Given the description of an element on the screen output the (x, y) to click on. 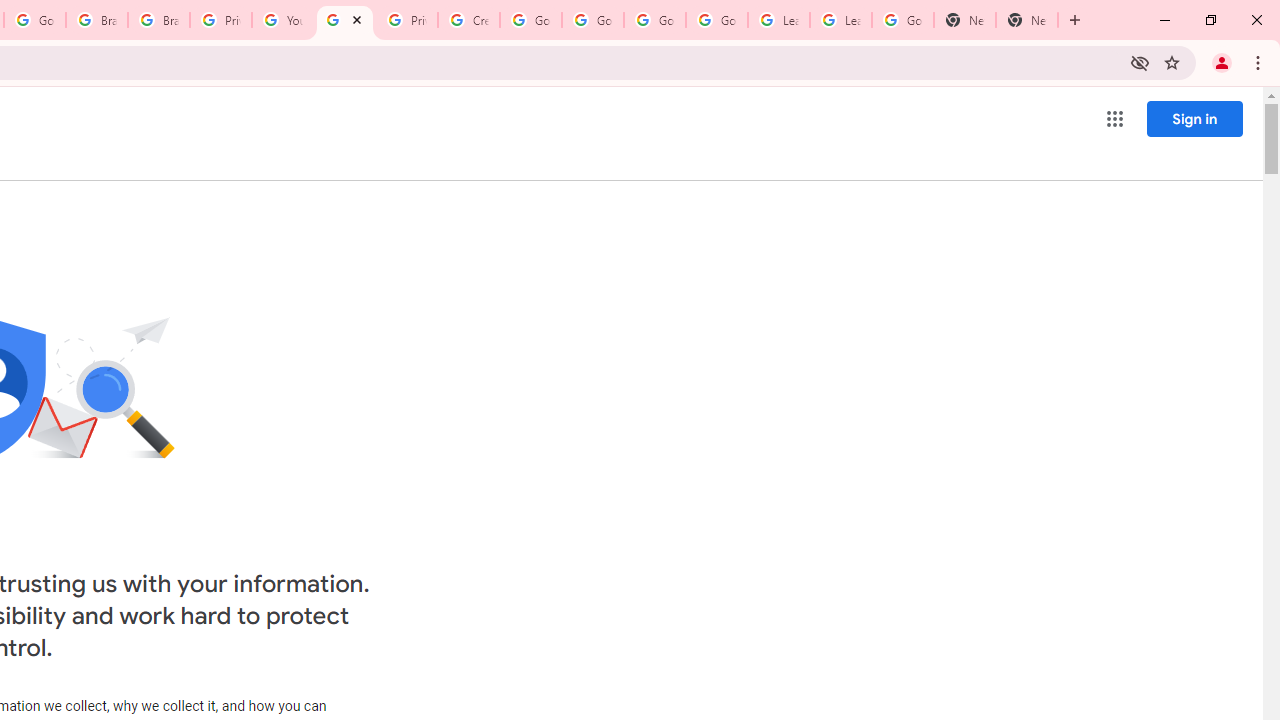
YouTube (282, 20)
Google Account Help (530, 20)
New Tab (1026, 20)
Brand Resource Center (96, 20)
New Tab (964, 20)
Google Account Help (716, 20)
